Given the description of an element on the screen output the (x, y) to click on. 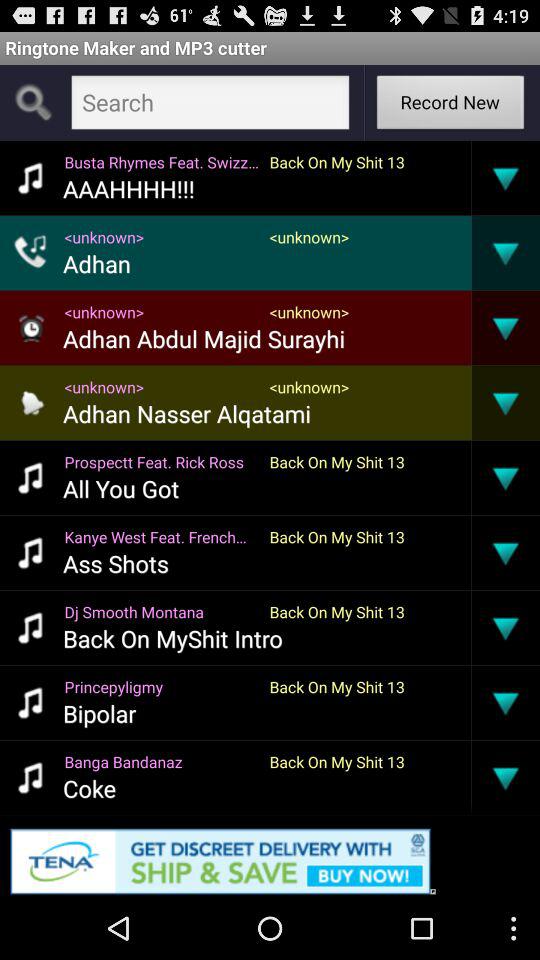
image advertisement link (270, 857)
